Given the description of an element on the screen output the (x, y) to click on. 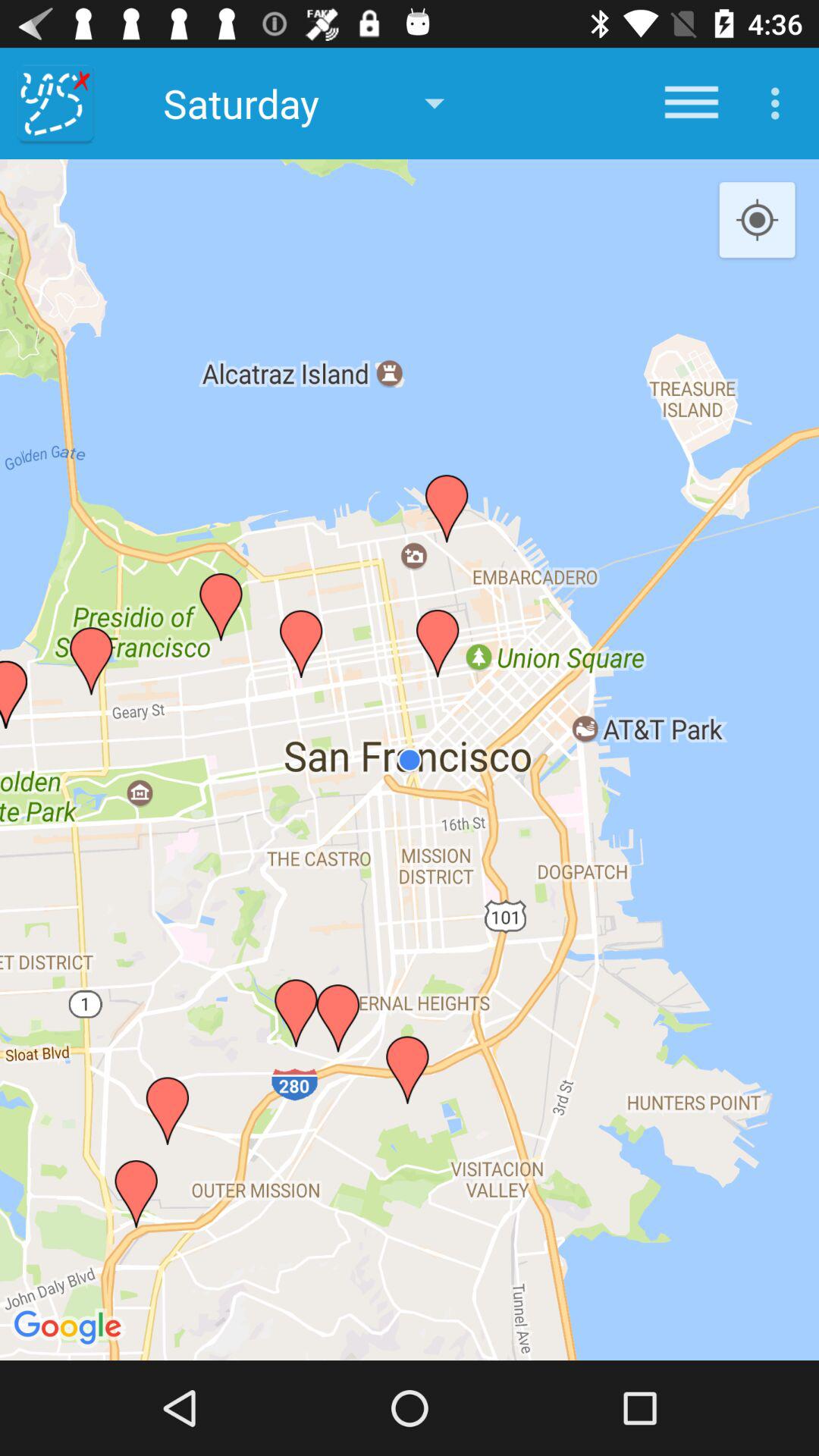
press item to the right of saturday (691, 103)
